Given the description of an element on the screen output the (x, y) to click on. 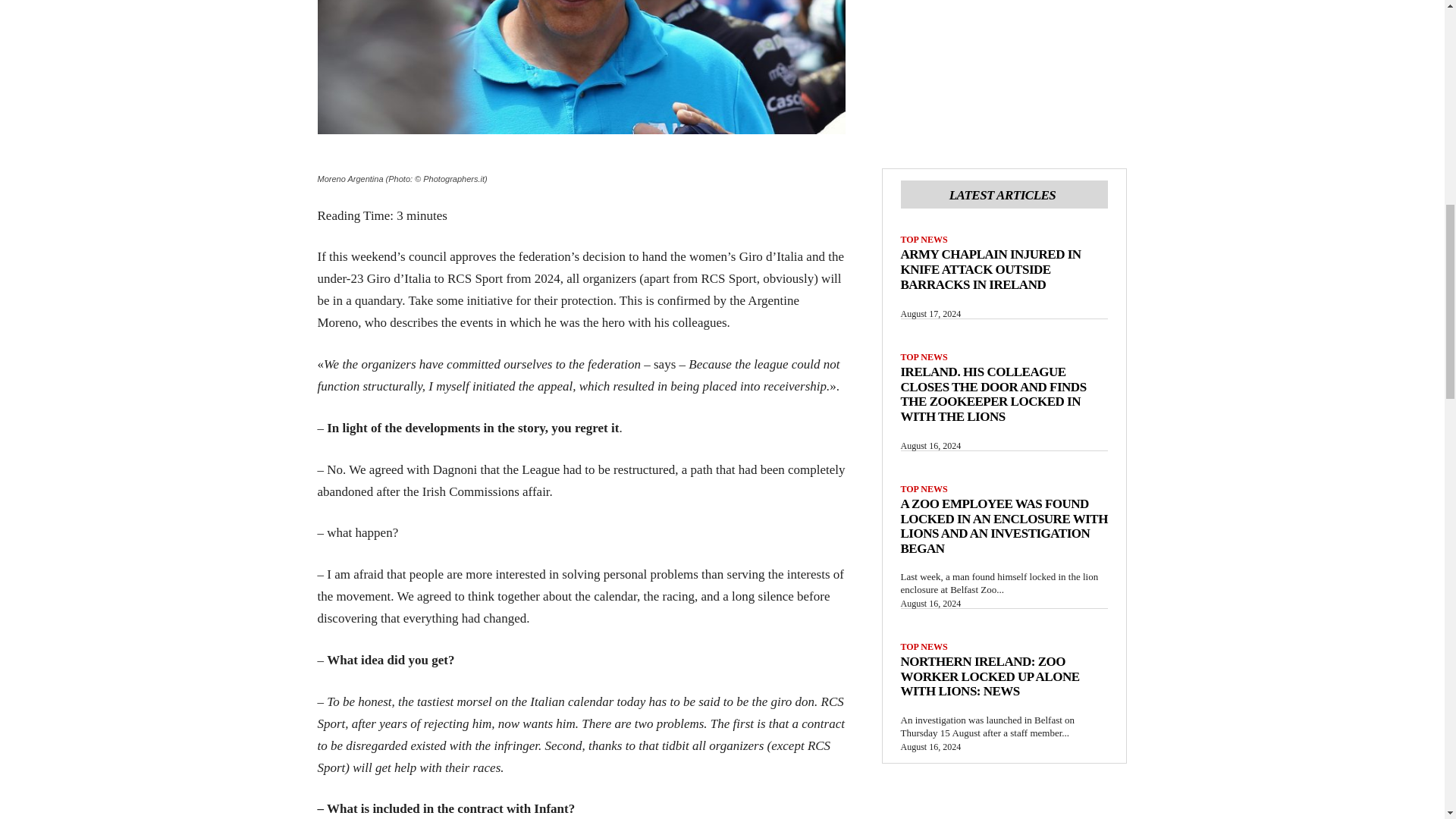
TOP NEWS (924, 239)
TOP NEWS (924, 357)
